Given the description of an element on the screen output the (x, y) to click on. 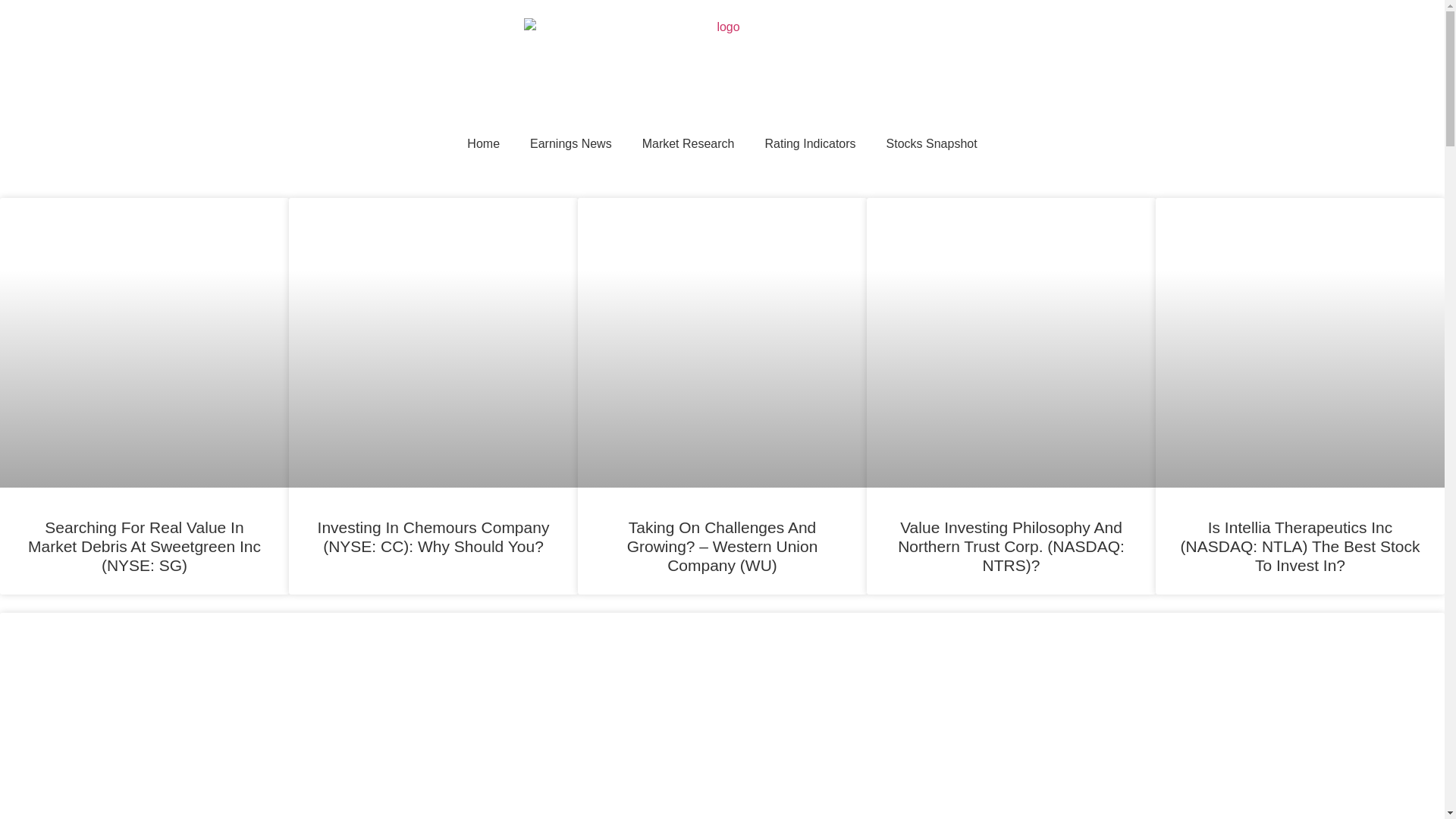
Rating Indicators (809, 143)
Market Research (688, 143)
Earnings News (571, 143)
Home (483, 143)
Stocks Snapshot (931, 143)
